Given the description of an element on the screen output the (x, y) to click on. 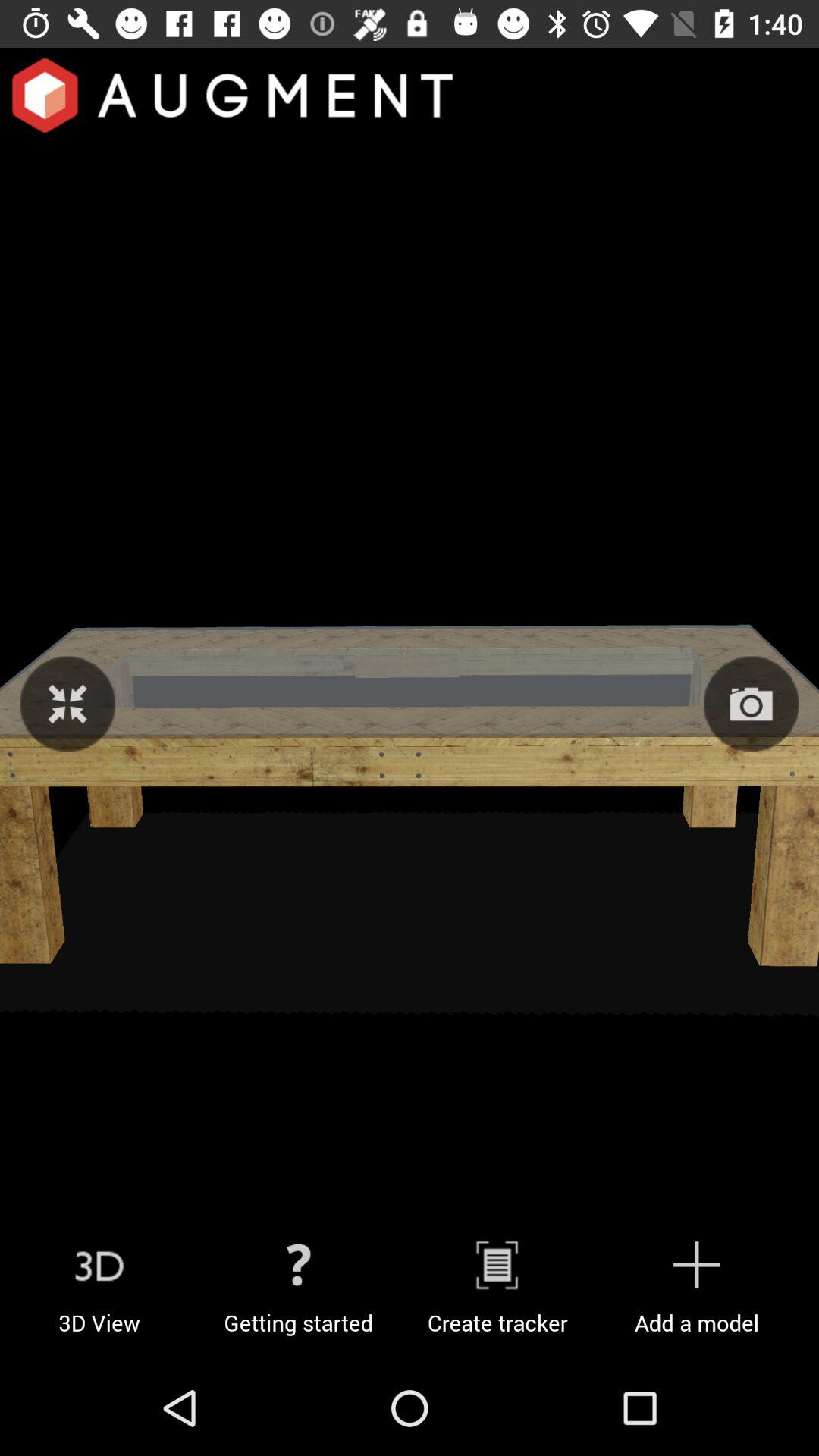
zoom image (67, 703)
